Given the description of an element on the screen output the (x, y) to click on. 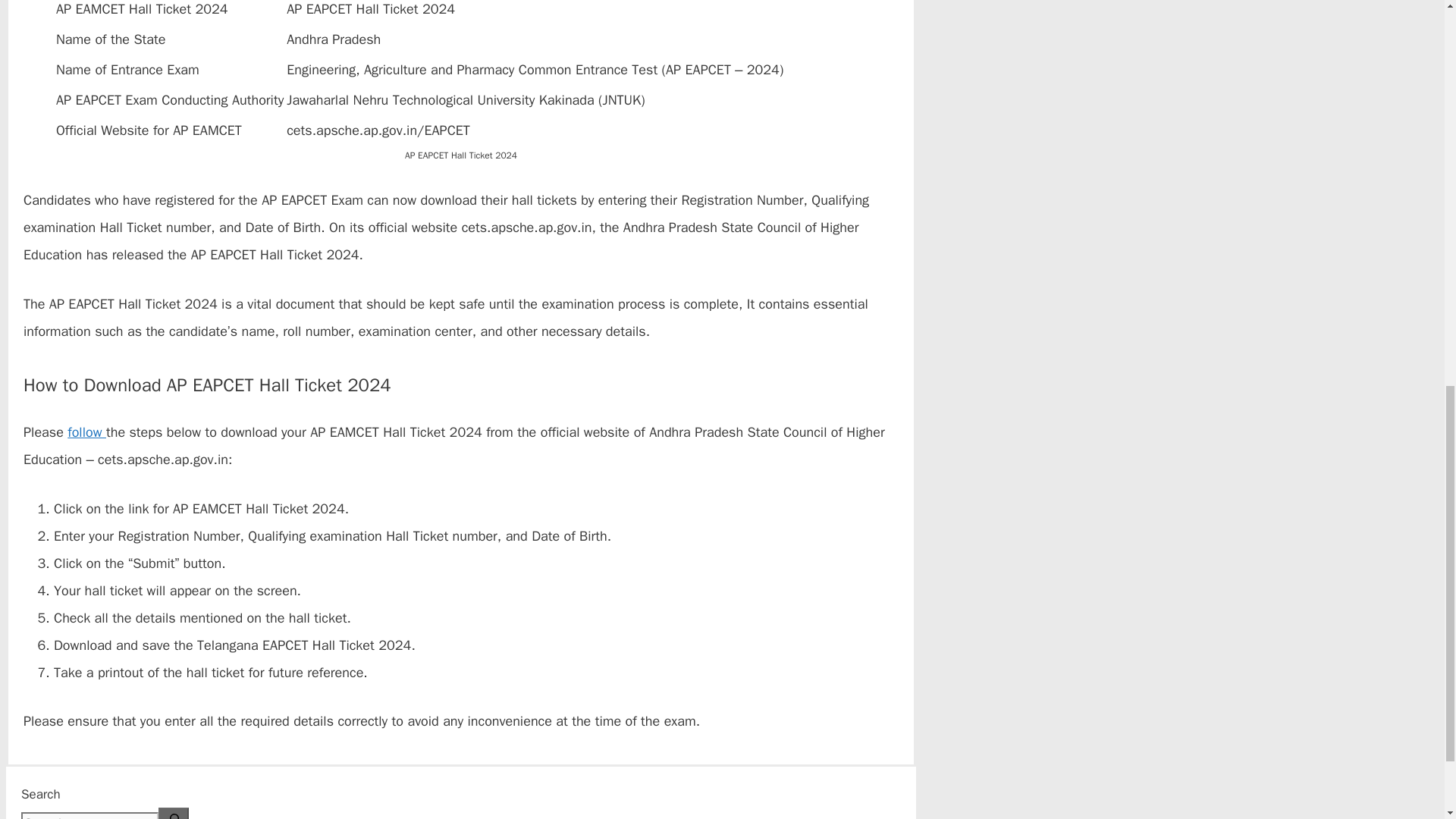
follow (86, 432)
